Given the description of an element on the screen output the (x, y) to click on. 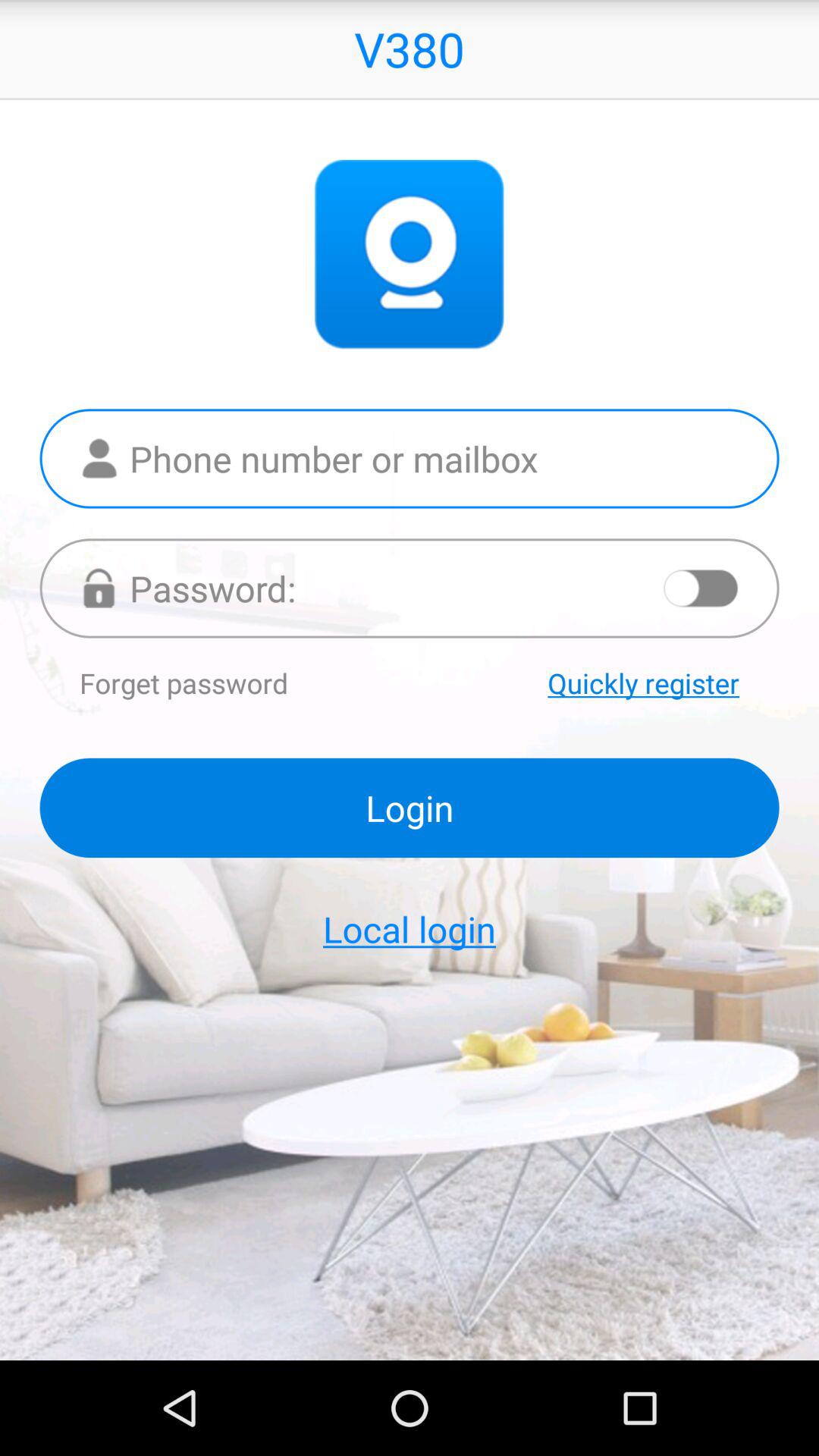
enter your password (409, 588)
